Given the description of an element on the screen output the (x, y) to click on. 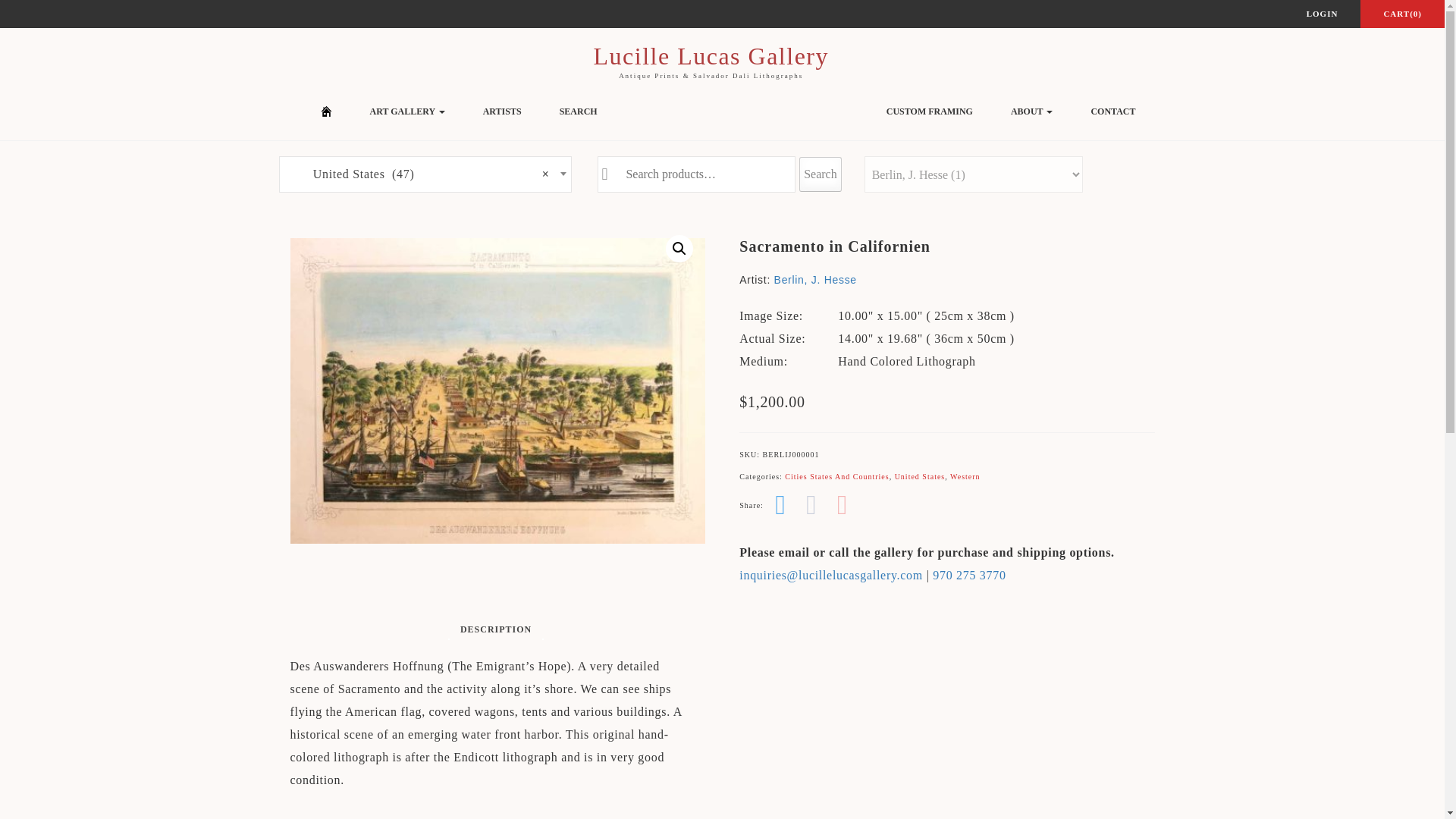
Login (1322, 13)
DESCRIPTION (495, 629)
Cities States And Countries (836, 476)
SEARCH (577, 111)
Custom Framing (929, 111)
CUSTOM FRAMING (929, 111)
ABOUT (1031, 111)
United States (919, 476)
Berlin, J. Hesse (815, 279)
Art Gallery (407, 111)
Lucille Lucas Gallery (710, 55)
Artists (502, 111)
Western (964, 476)
Search (577, 111)
CONTACT (1112, 111)
